Given the description of an element on the screen output the (x, y) to click on. 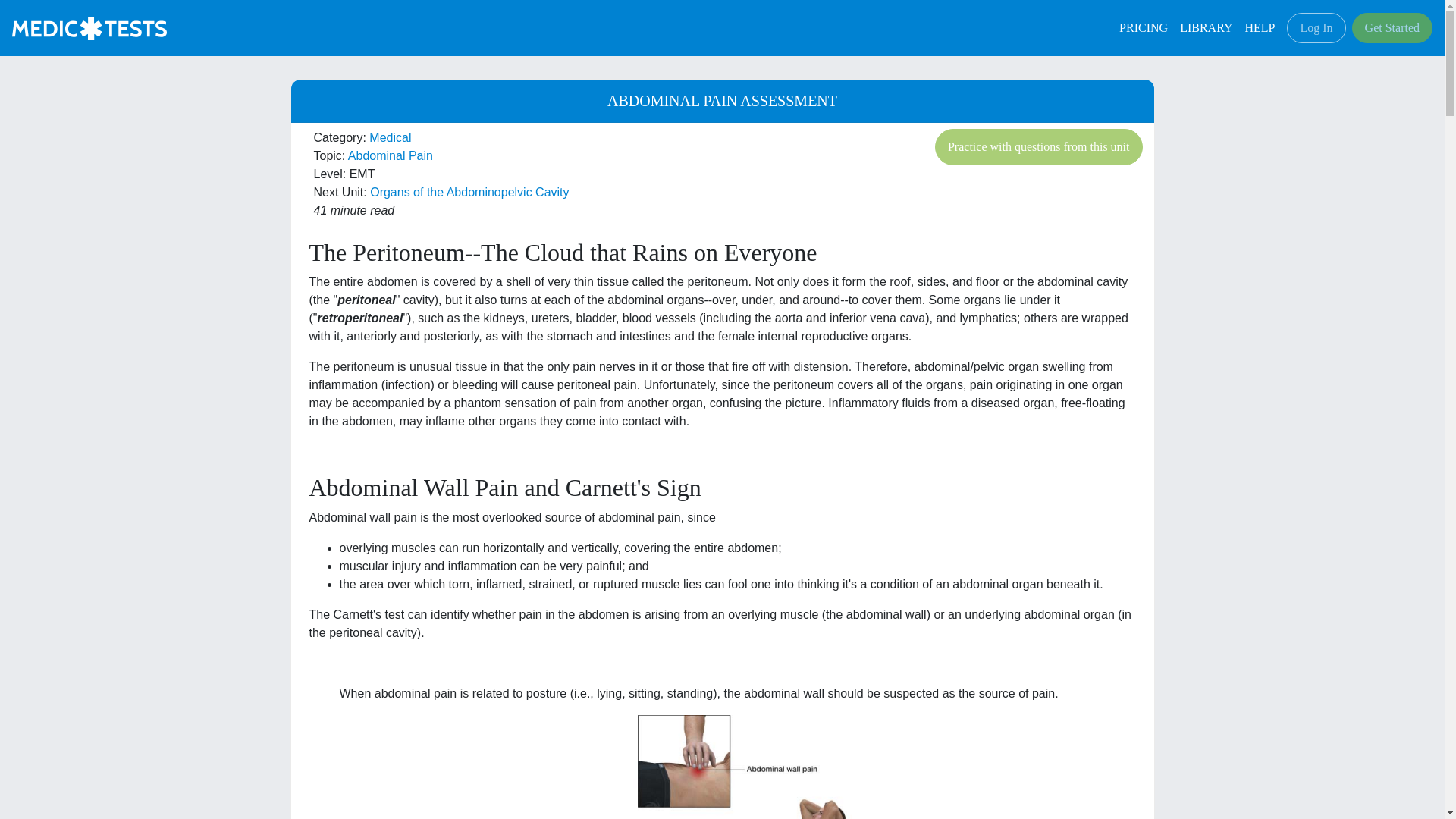
Log In (1316, 28)
PRICING (1143, 28)
Medical (389, 137)
HELP (1260, 28)
Practice with questions from this unit (1038, 146)
Get Started (1392, 28)
Abdominal Pain (389, 155)
LIBRARY (1206, 28)
Organs of the Abdominopelvic Cavity (469, 192)
